Given the description of an element on the screen output the (x, y) to click on. 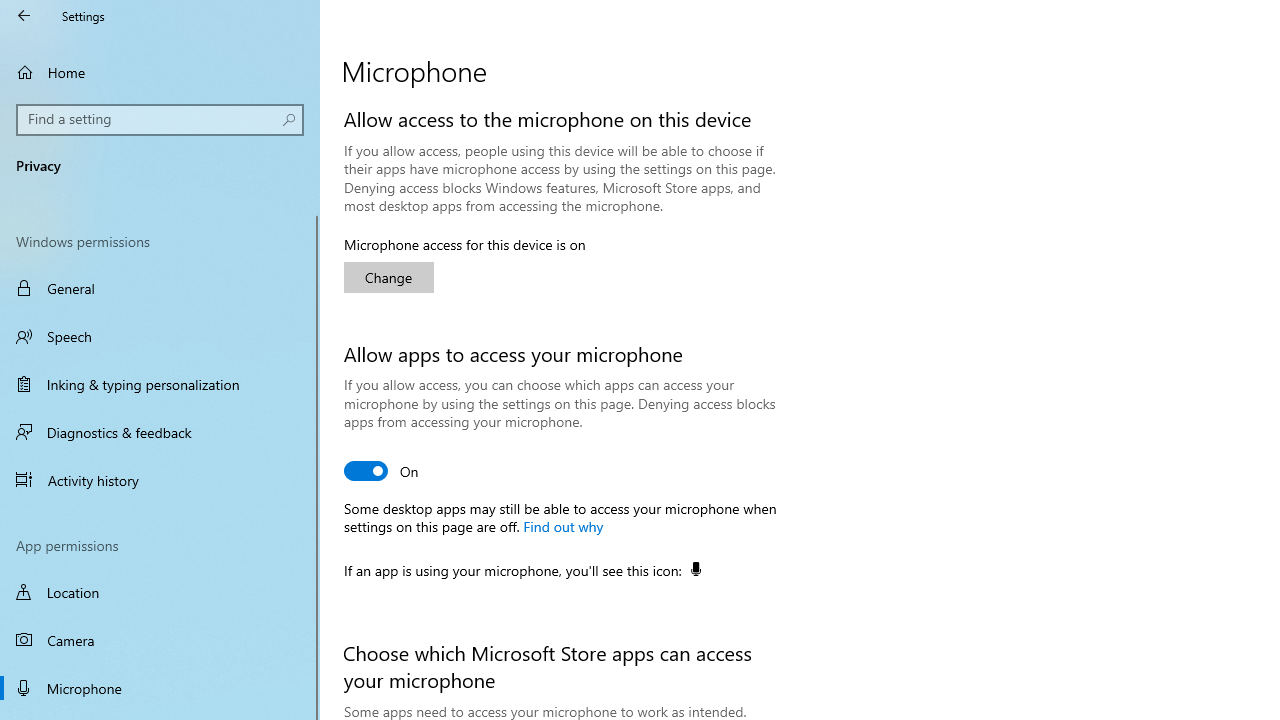
General (160, 287)
Microphone (160, 687)
Search box, Find a setting (160, 119)
Change (388, 277)
Activity history (160, 479)
Inking & typing personalization (160, 384)
Allow apps to access your microphone (381, 470)
Find out why (562, 525)
Camera (160, 639)
Location (160, 592)
Speech (160, 335)
Diagnostics & feedback (160, 431)
